Given the description of an element on the screen output the (x, y) to click on. 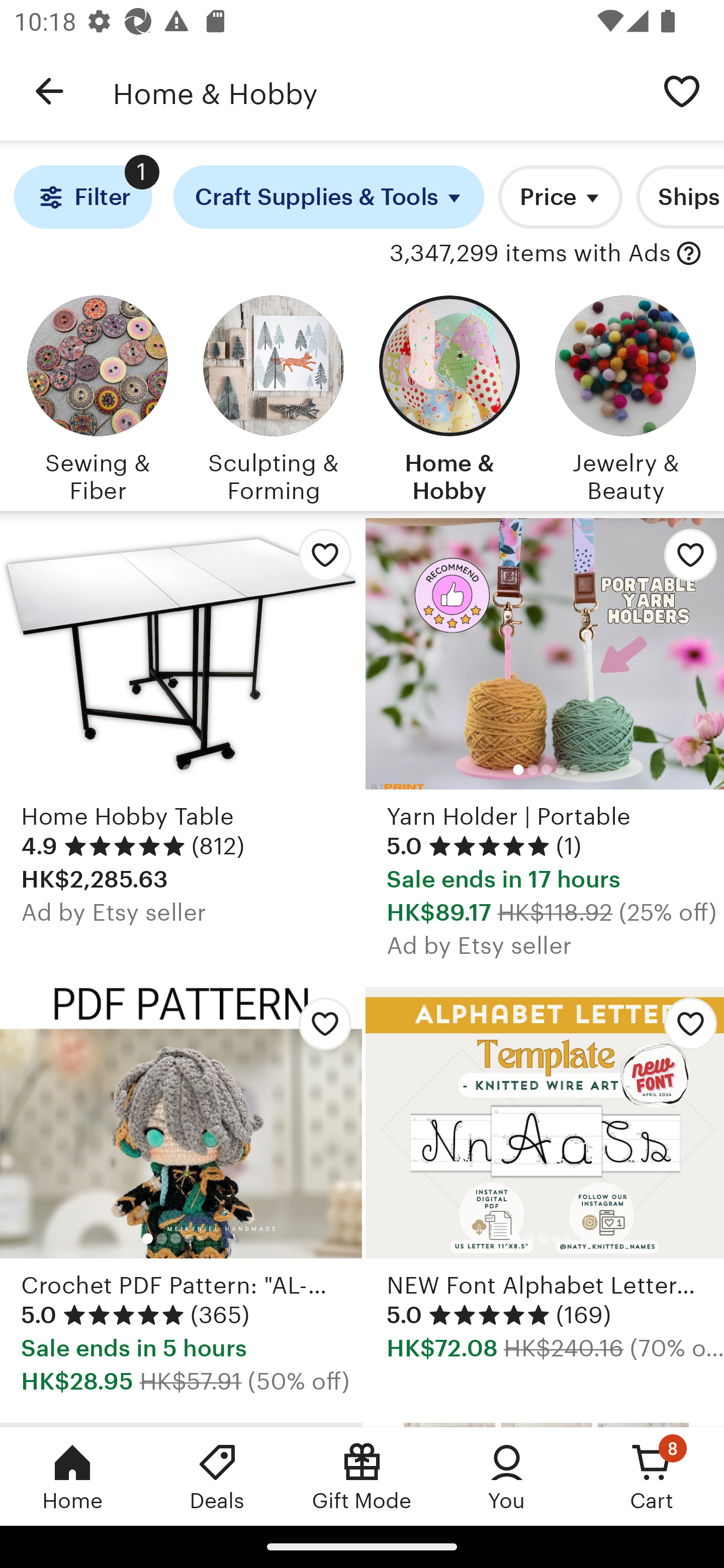
Navigate up (49, 91)
Save search (681, 90)
Home & Hobby (375, 91)
Filter (82, 197)
Craft Supplies & Tools (328, 197)
Price (560, 197)
3,347,299 items with Ads (530, 253)
with Ads (688, 253)
Sewing & Fiber (97, 395)
Sculpting & Forming (273, 395)
Home & Hobby (449, 395)
Jewelry & Beauty (625, 395)
Add Home Hobby Table to favorites (319, 559)
Add Yarn Holder | Portable to favorites (683, 559)
Deals (216, 1475)
Gift Mode (361, 1475)
You (506, 1475)
Cart, 8 new notifications Cart (651, 1475)
